Given the description of an element on the screen output the (x, y) to click on. 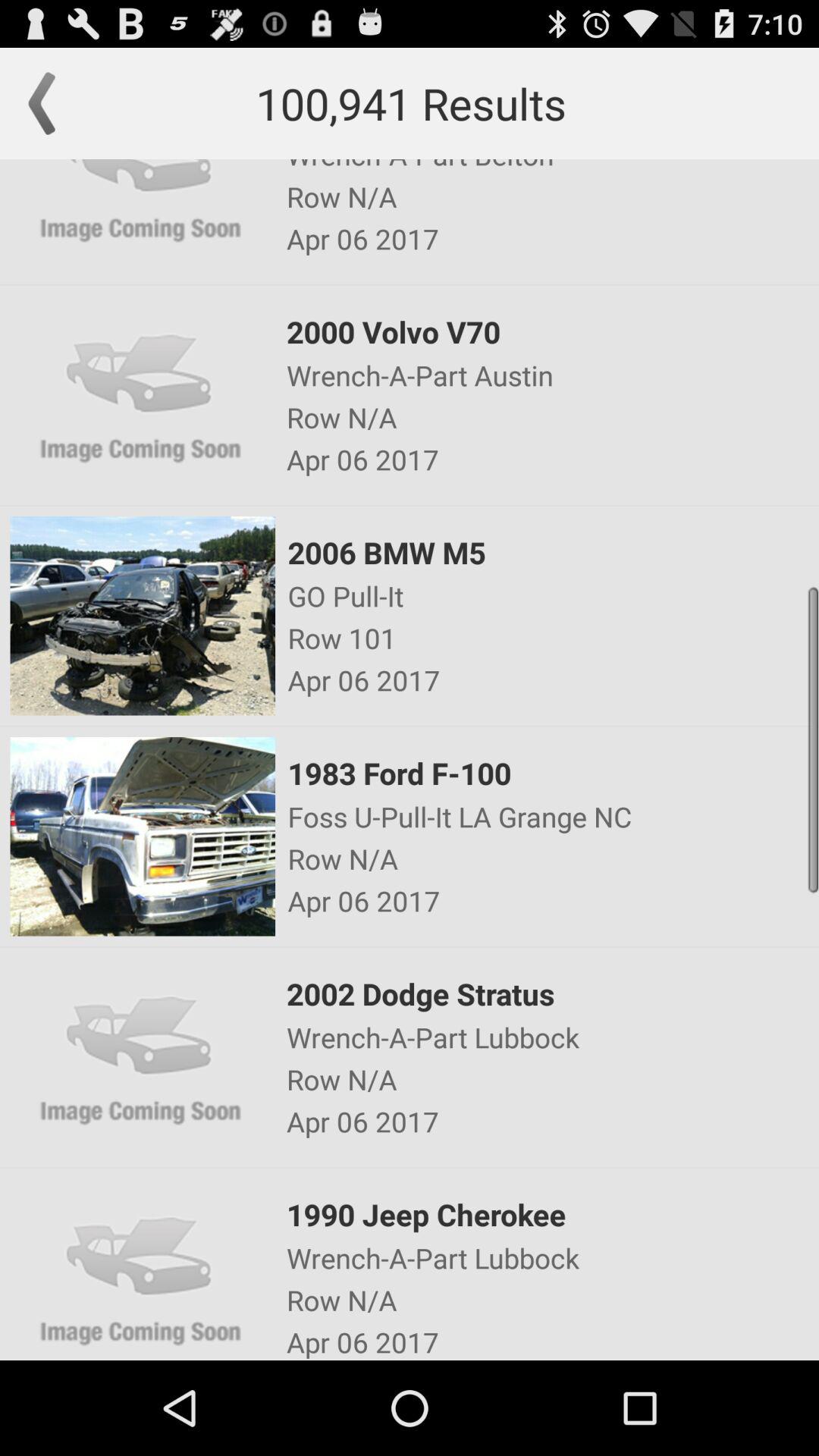
open the row 101 (551, 637)
